Given the description of an element on the screen output the (x, y) to click on. 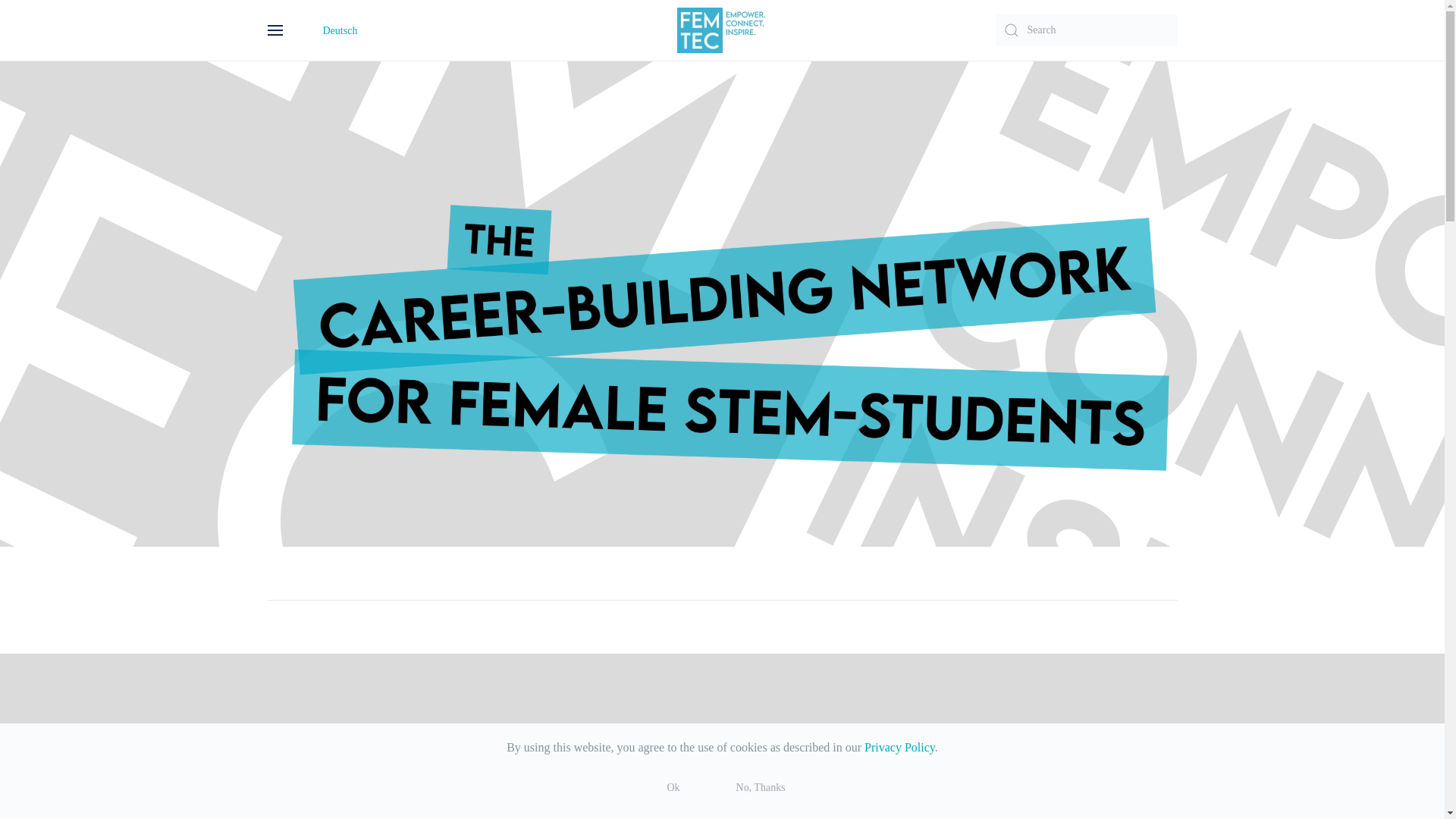
Privacy Policy (899, 747)
Deutsch (340, 30)
No, Thanks (760, 787)
Ok (672, 787)
